Given the description of an element on the screen output the (x, y) to click on. 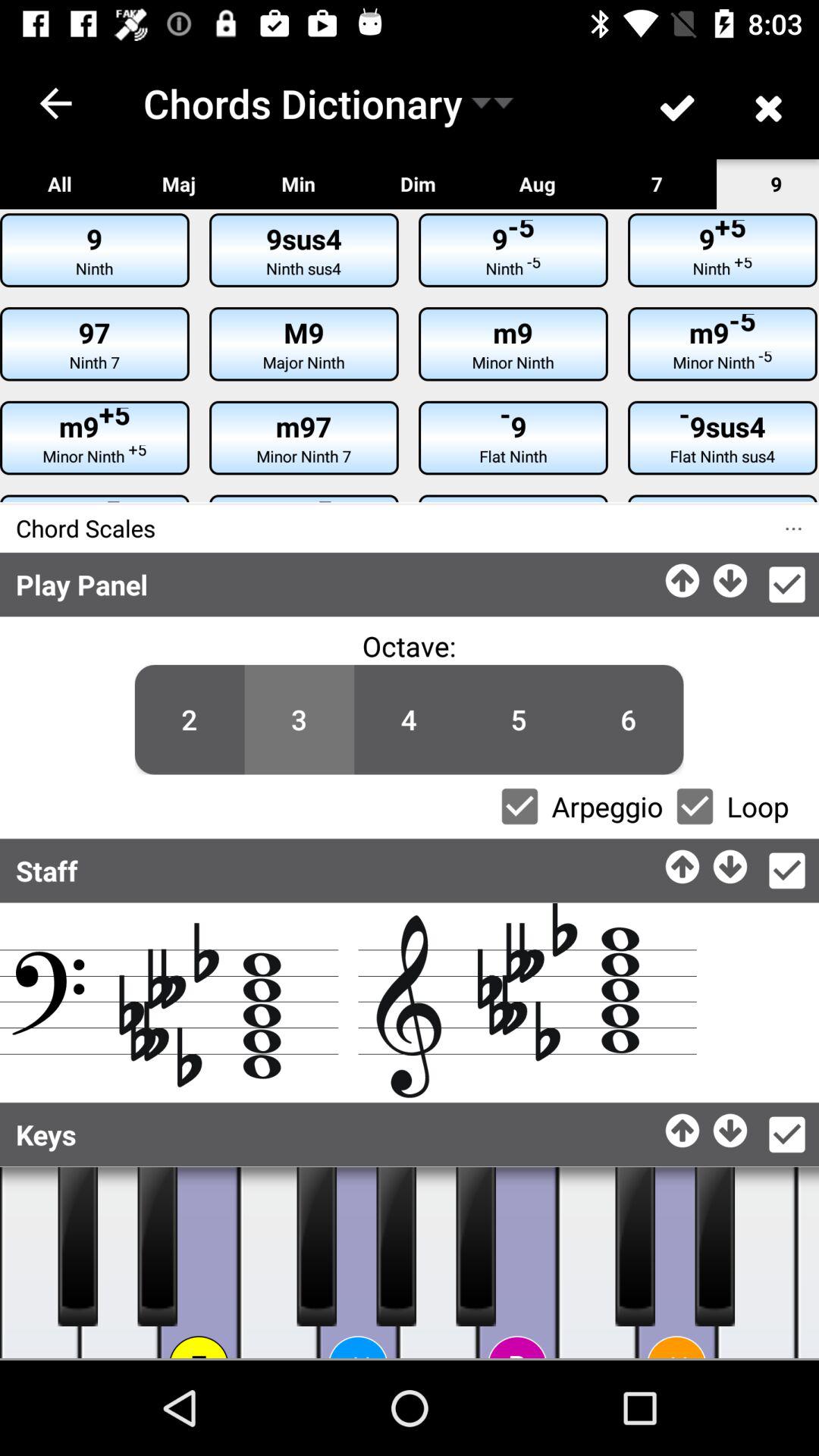
click to check box (519, 806)
